Given the description of an element on the screen output the (x, y) to click on. 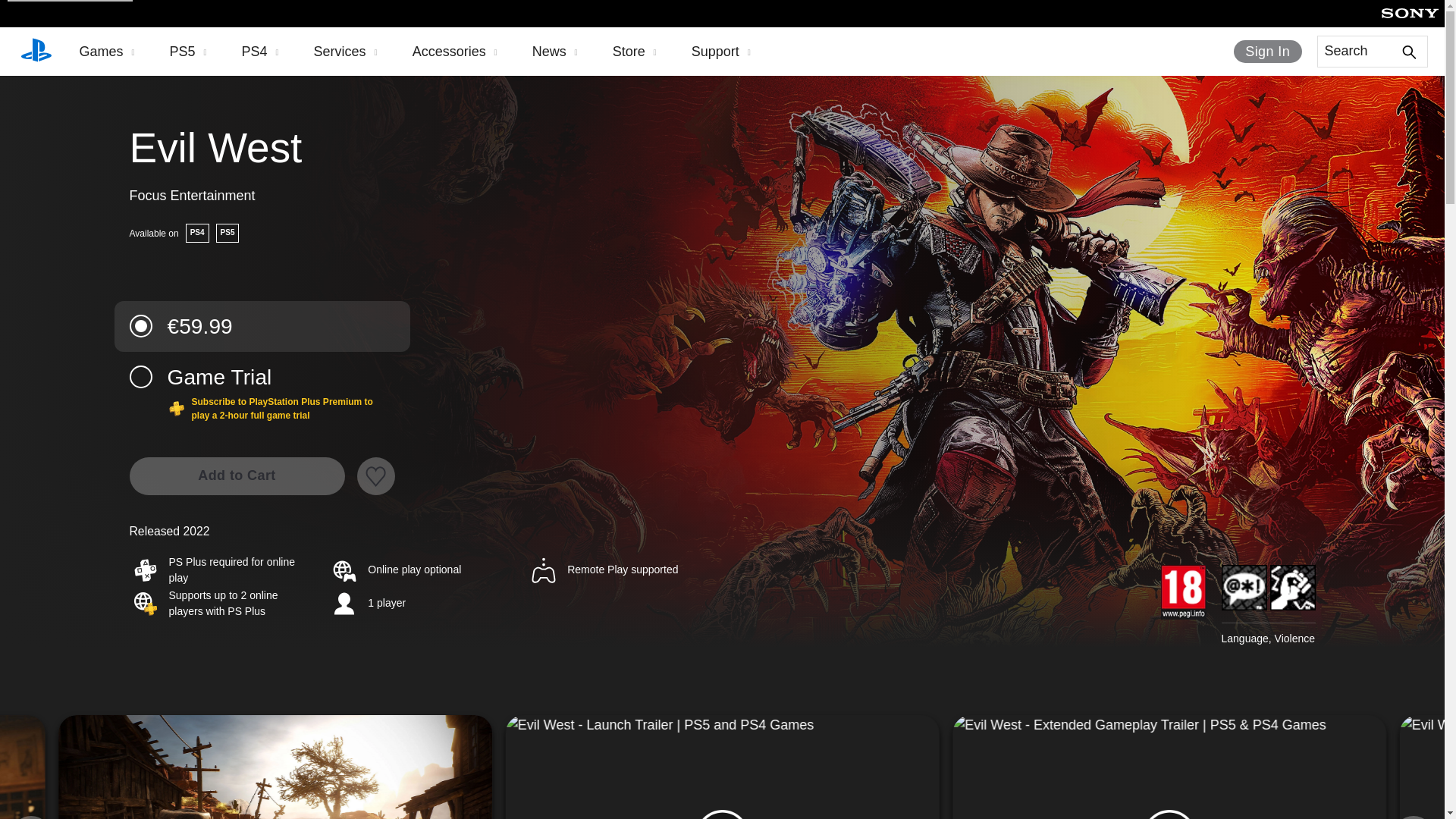
Games (106, 51)
Accessories (454, 51)
Skip to main content (69, 0)
PS4 (260, 51)
PS5 (188, 51)
Services (345, 51)
